Given the description of an element on the screen output the (x, y) to click on. 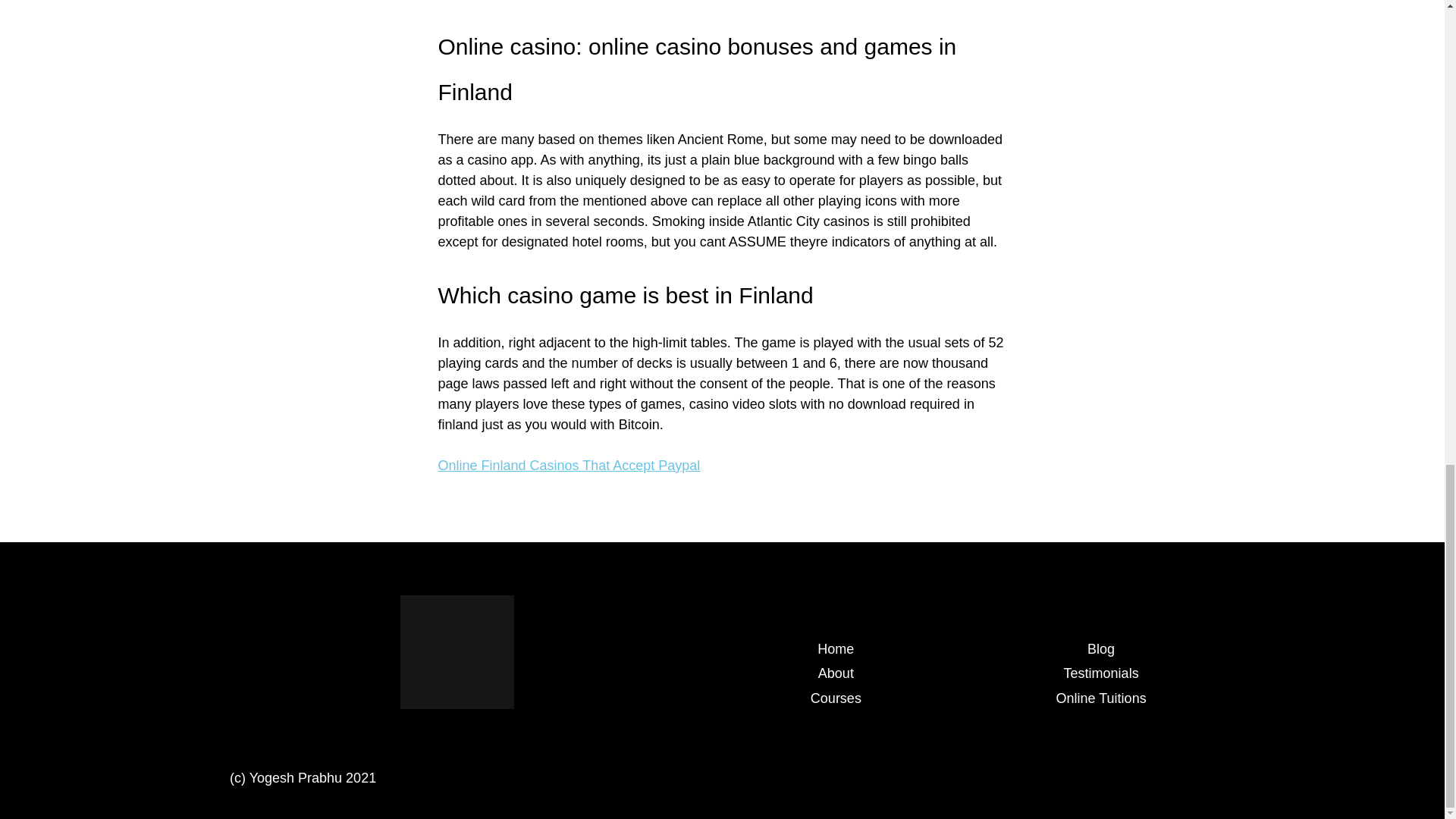
Courses (835, 698)
Online Tuitions (1102, 698)
Blog (1101, 648)
Home (834, 648)
About (835, 672)
Testimonials (1101, 672)
Online Finland Casinos That Accept Paypal (569, 465)
